Given the description of an element on the screen output the (x, y) to click on. 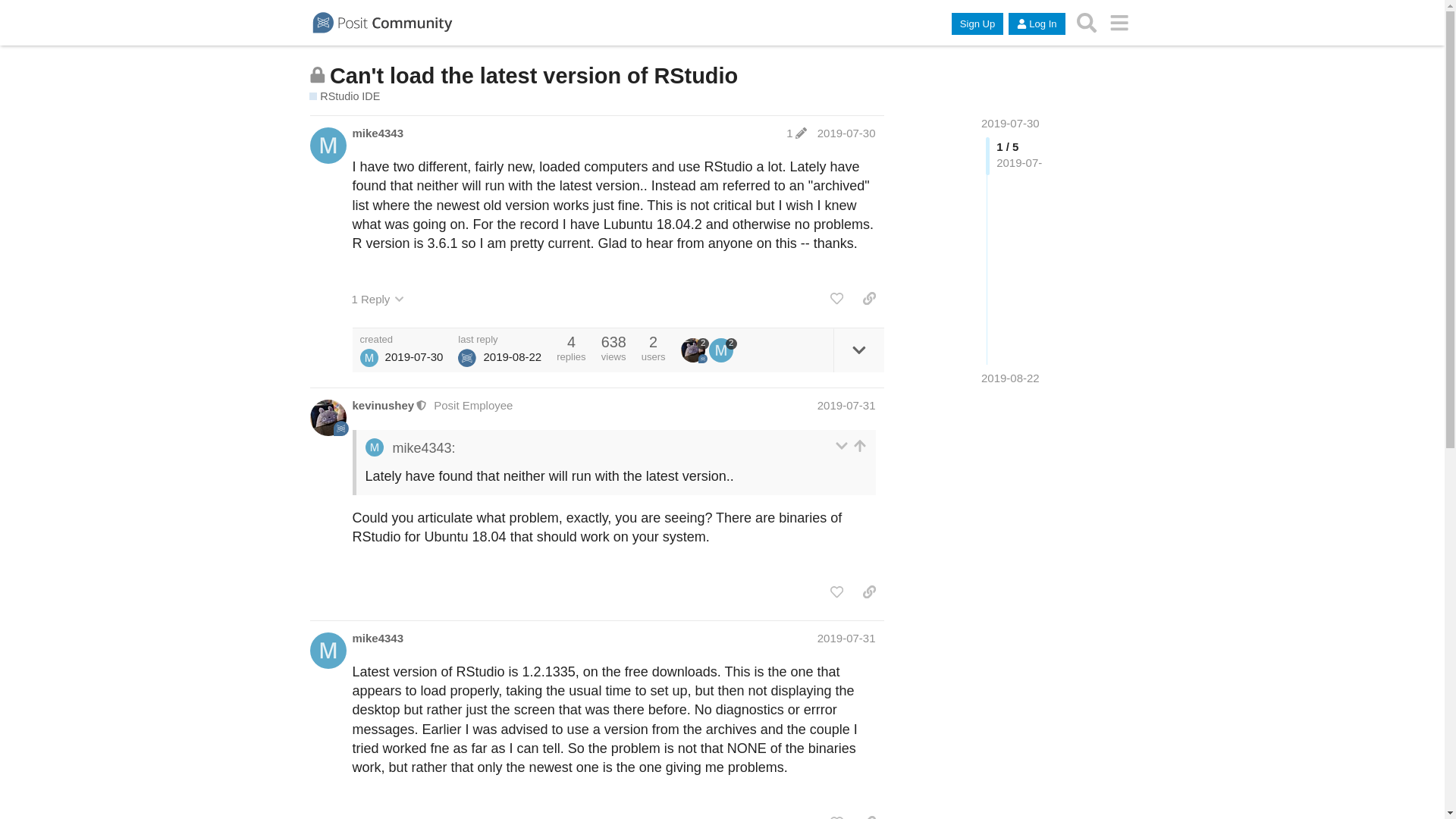
menu (1119, 22)
Mike Gallagher (368, 357)
post last edited on Jul 30, 2019 8:29 pm (795, 132)
2019-07-31 (846, 637)
Jul 30, 2019 6:01 pm (414, 356)
This topic is closed; it no longer accepts new replies (317, 74)
Sign Up (977, 24)
Posit Employee (472, 404)
Post date (846, 132)
expand topic details (857, 350)
Log In (1036, 24)
2019-08-22 (1010, 377)
copy a link to this post to clipboard (869, 298)
kevinushey (382, 405)
1 (795, 132)
